Given the description of an element on the screen output the (x, y) to click on. 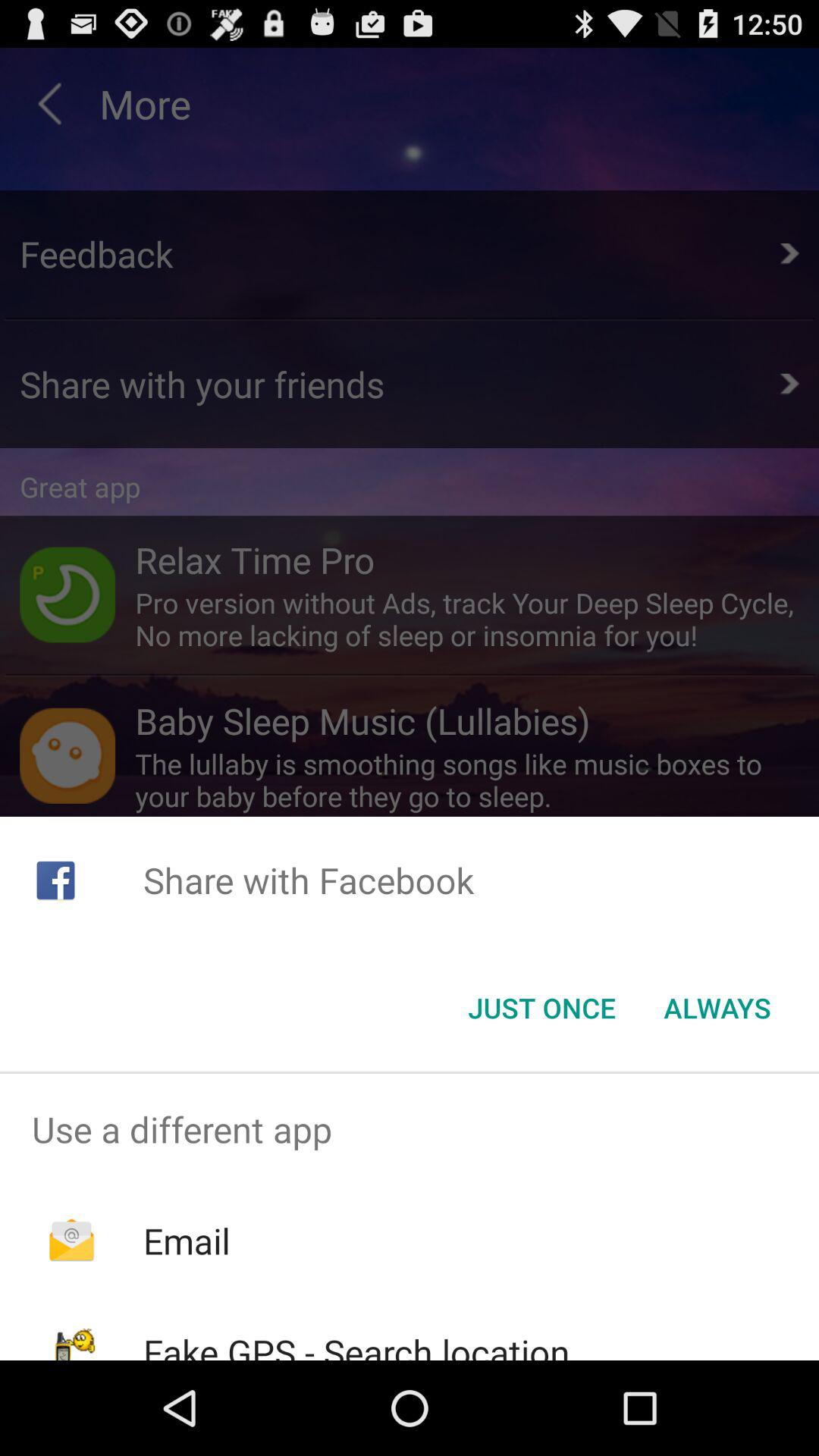
turn on item below the email item (356, 1344)
